Given the description of an element on the screen output the (x, y) to click on. 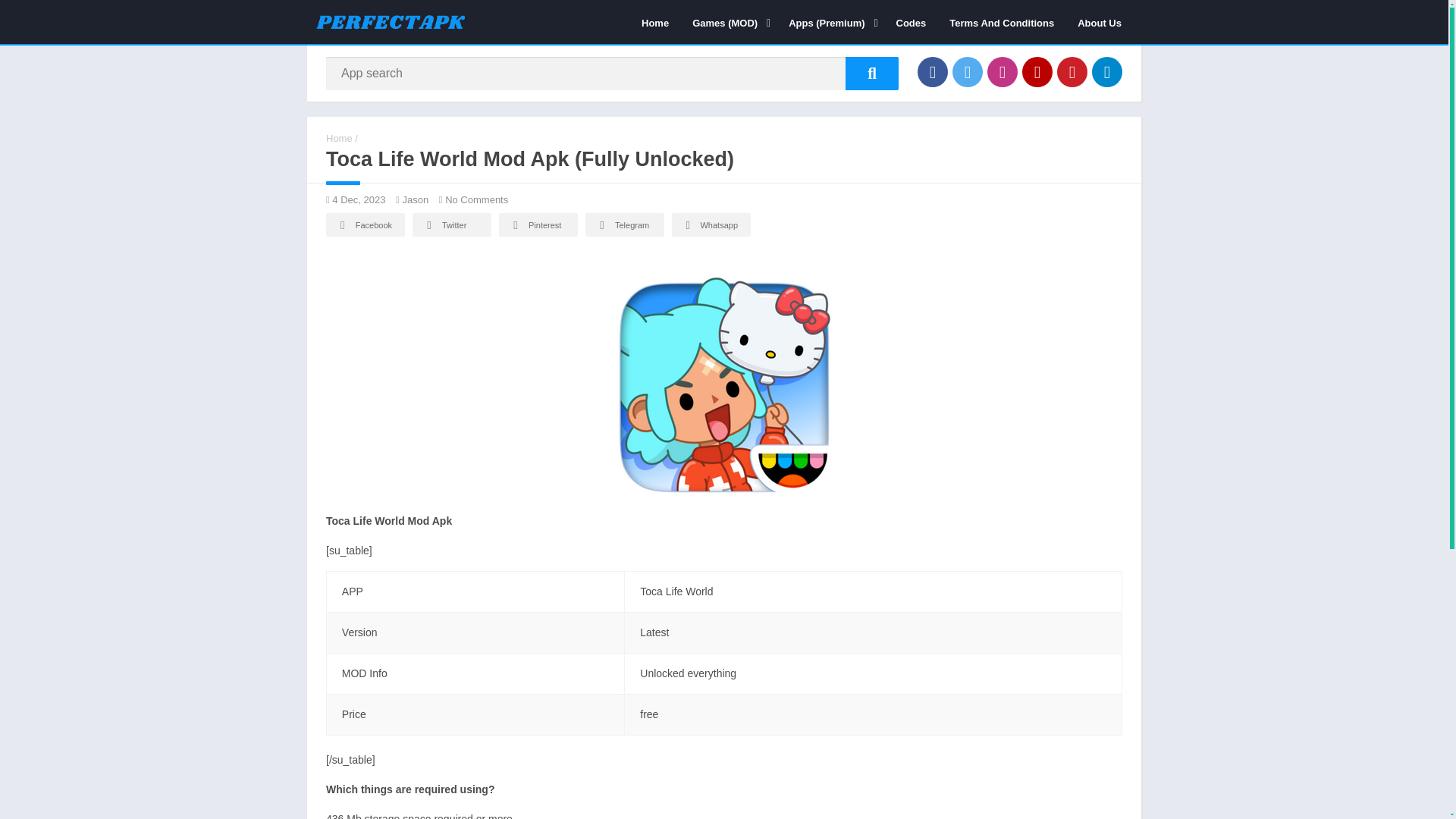
YouTube (1037, 71)
App search (871, 73)
Pinterest (1072, 71)
Twitter (967, 71)
Telegram (1107, 71)
Instagram (1002, 71)
Facebook (932, 71)
